Given the description of an element on the screen output the (x, y) to click on. 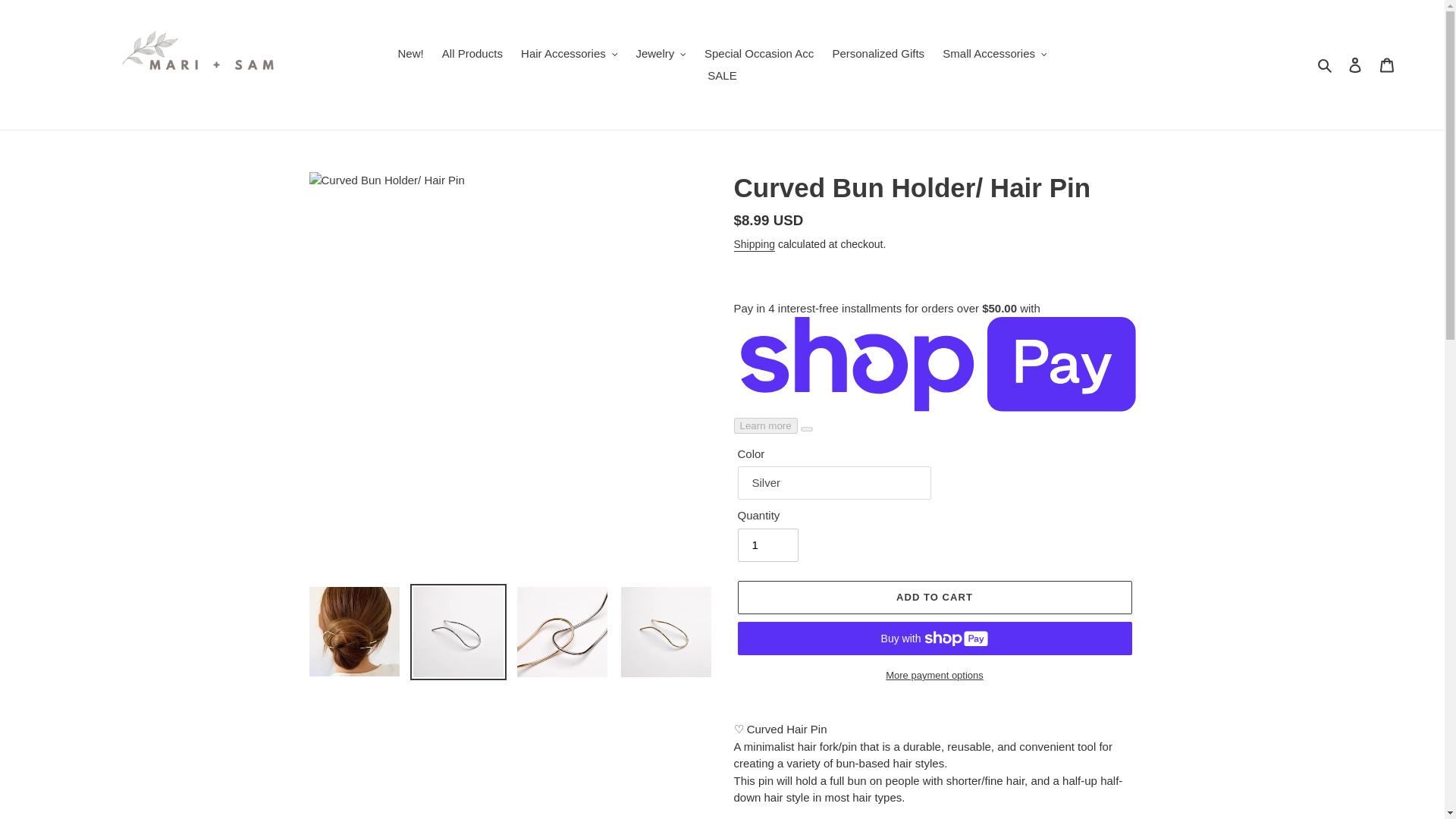
Log in (1355, 64)
Special Occasion Acc (759, 54)
Personalized Gifts (877, 54)
1 (766, 544)
Cart (1387, 64)
New! (410, 54)
Search (1326, 64)
SALE (722, 75)
Jewelry (660, 54)
All Products (472, 54)
Hair Accessories (568, 54)
Small Accessories (994, 54)
